Given the description of an element on the screen output the (x, y) to click on. 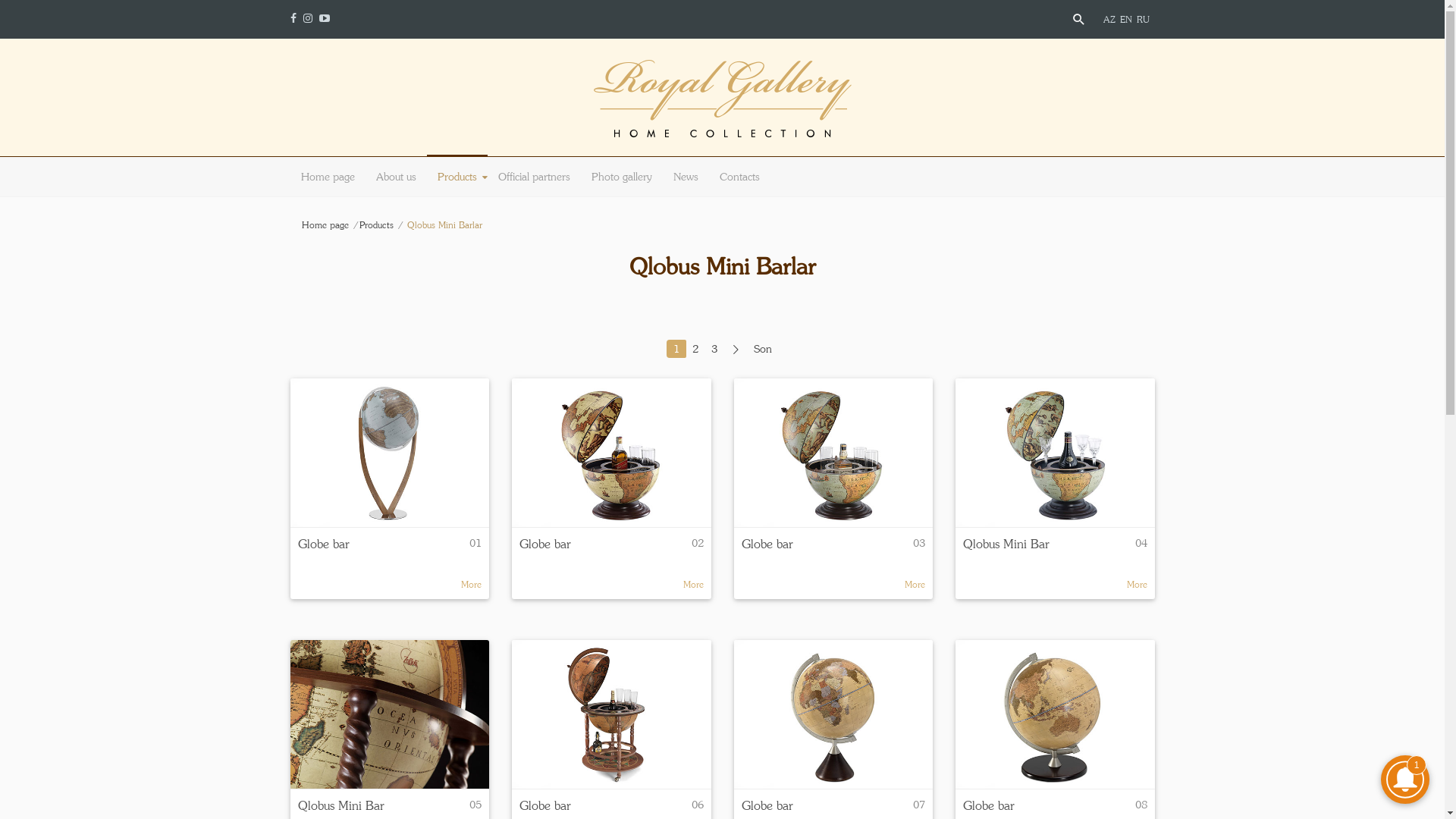
Son Element type: text (762, 348)
Products Element type: text (381, 224)
Globe bar Element type: text (767, 551)
Qlobus Mini Bar Element type: hover (1054, 451)
3 Element type: text (713, 348)
Globe bar Element type: hover (833, 713)
Qlobus Mini Bar Element type: hover (389, 713)
Globe bar Element type: hover (389, 452)
EN Element type: text (1127, 19)
More Element type: text (1136, 584)
RU Element type: text (1142, 19)
Products Element type: text (456, 176)
Globe bar Element type: hover (611, 714)
Globe bar Element type: hover (389, 451)
2 Element type: text (695, 348)
Globe bar Element type: hover (833, 714)
Qlobus Mini Bar Element type: hover (389, 714)
AZ Element type: text (1110, 19)
1 Element type: text (675, 348)
Globe bar Element type: hover (1054, 713)
Qlobus Mini Bar Element type: text (1006, 551)
News Element type: text (685, 176)
Globe bar Element type: hover (833, 452)
Official partners Element type: text (533, 176)
Royal Gallery Element type: hover (721, 105)
Contacts Element type: text (738, 176)
More Element type: text (471, 584)
Globe bar Element type: hover (611, 713)
More Element type: text (692, 584)
Globe bar Element type: text (322, 551)
Globe bar Element type: text (545, 551)
About us Element type: text (395, 176)
Qlobus Mini Bar Element type: hover (1054, 452)
Home page Element type: text (326, 176)
Globe bar Element type: hover (1054, 714)
More Element type: text (914, 584)
Globe bar Element type: hover (611, 452)
Globe bar Element type: hover (833, 451)
Photo gallery Element type: text (621, 176)
Globe bar Element type: hover (611, 451)
Home page Element type: text (330, 224)
